Given the description of an element on the screen output the (x, y) to click on. 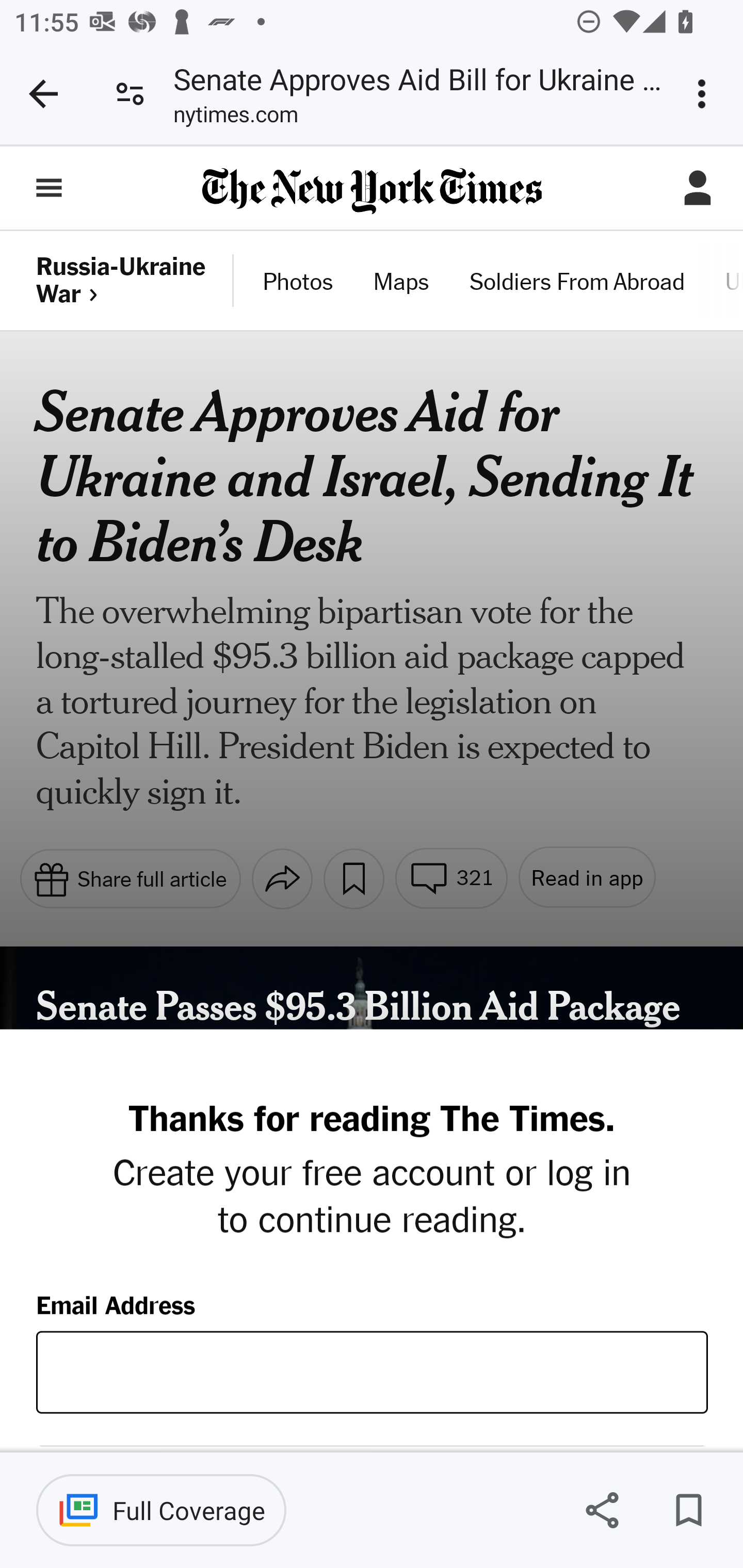
Close tab (43, 93)
Customize and control Google Chrome (705, 93)
Connection is secure (129, 93)
nytimes.com (235, 117)
Full Coverage (161, 1509)
Share (601, 1510)
Save for later (688, 1510)
